Given the description of an element on the screen output the (x, y) to click on. 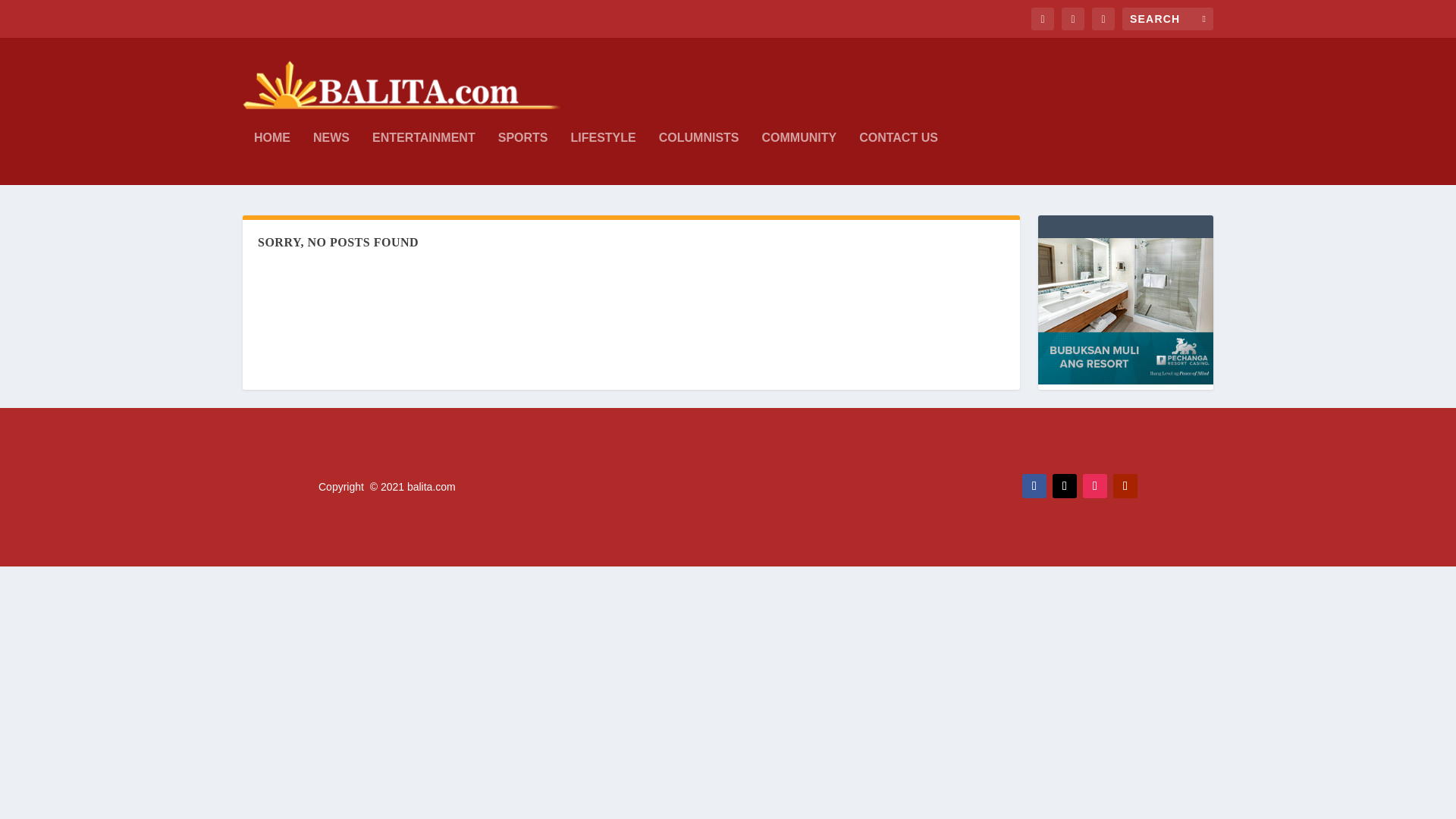
LIFESTYLE (602, 158)
COMMUNITY (799, 158)
CONTACT US (898, 158)
Search for: (1167, 18)
Follow on Facebook (1034, 485)
Follow on Instagram (1094, 485)
Follow on X (1064, 485)
SPORTS (522, 158)
COLUMNISTS (699, 158)
ENTERTAINMENT (424, 158)
Follow on Youtube (1125, 485)
